Given the description of an element on the screen output the (x, y) to click on. 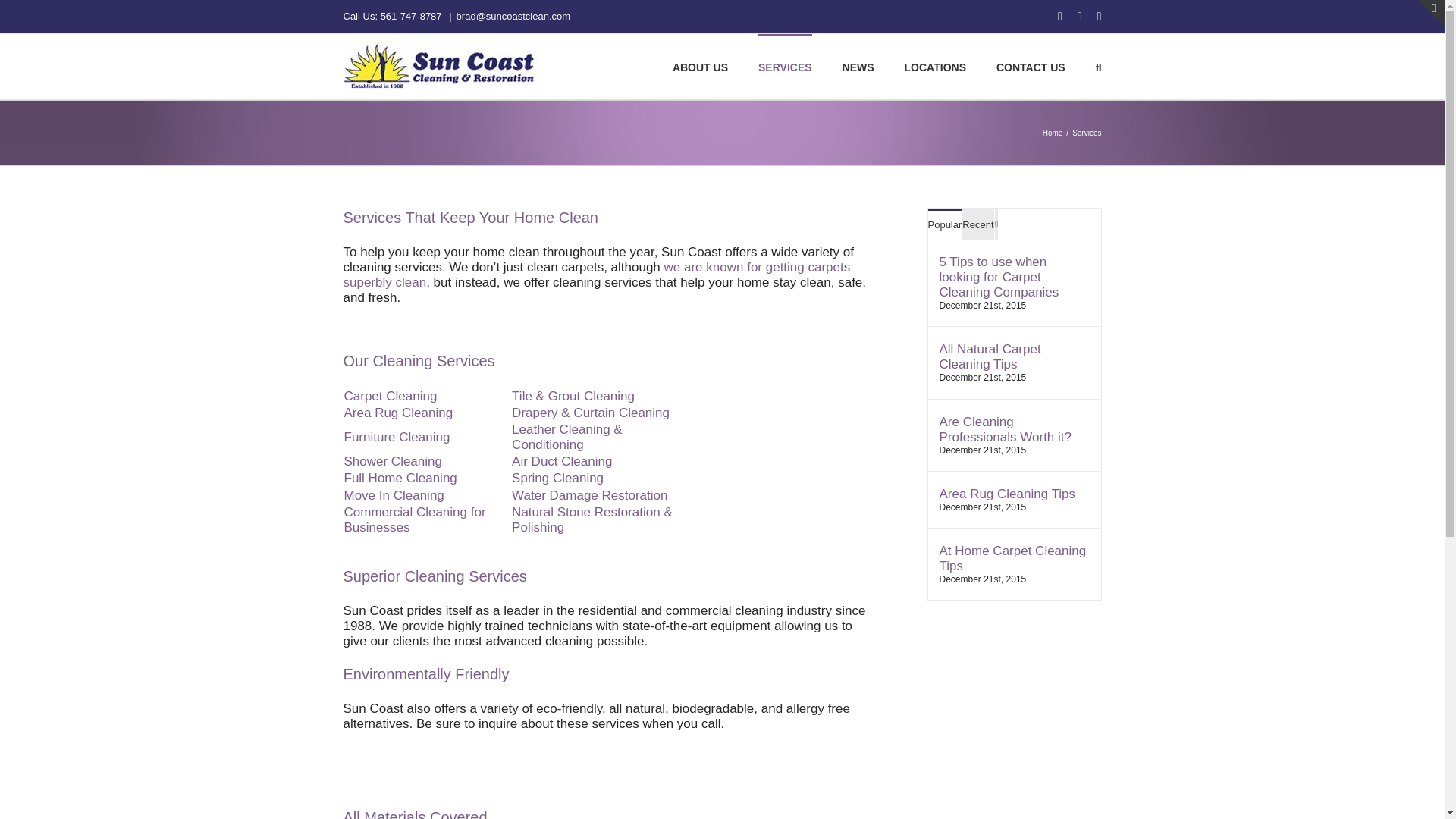
561-747-8787 (411, 16)
Carpet Cleaning (390, 396)
CONTACT US (1030, 66)
we are known for getting carpets superbly clean (596, 274)
LOCATIONS (935, 66)
Home (1052, 132)
